Given the description of an element on the screen output the (x, y) to click on. 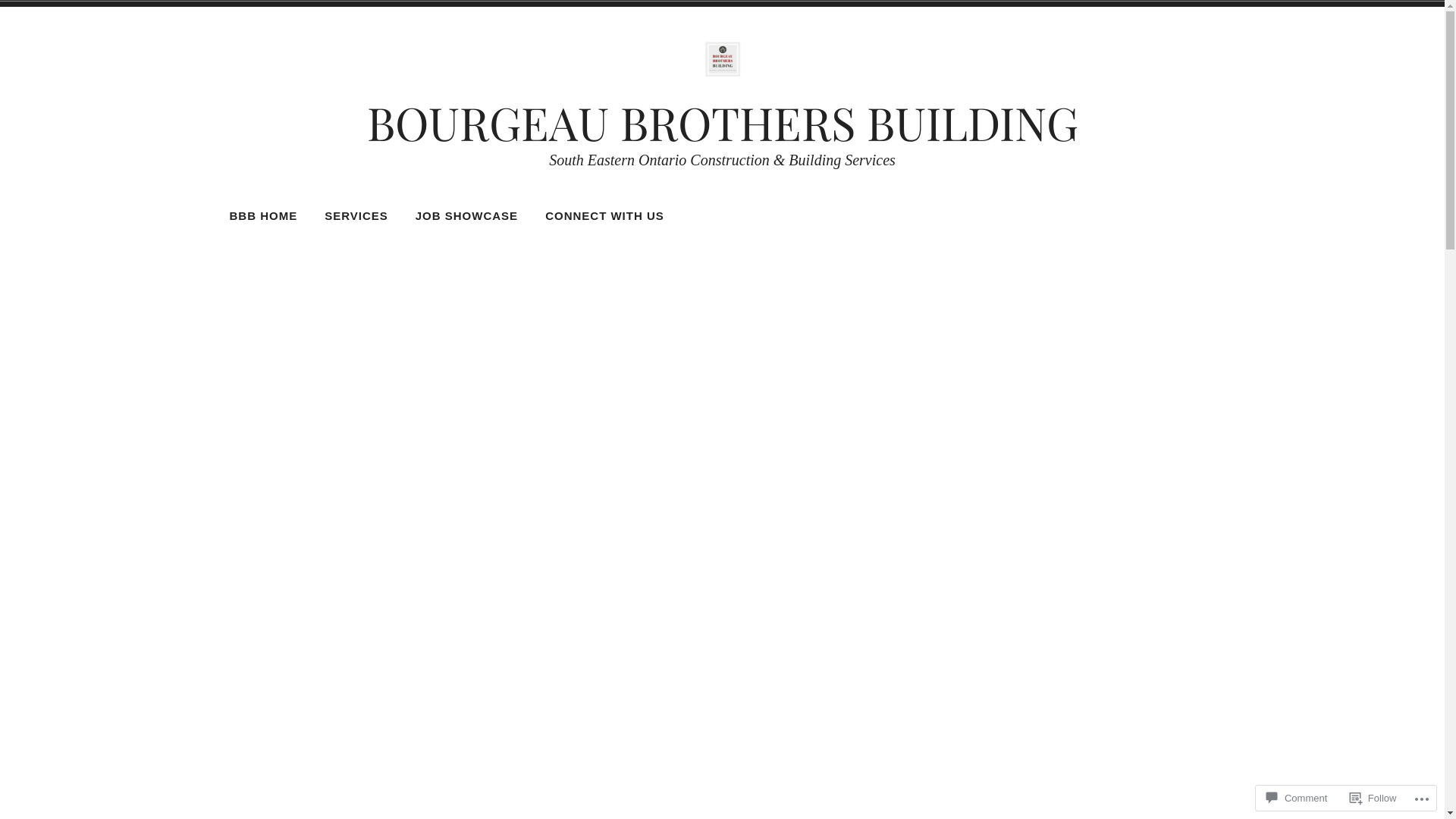
Follow Element type: text (1372, 797)
JOB SHOWCASE Element type: text (466, 215)
Search Element type: text (30, 13)
Comment Element type: text (1296, 797)
CONNECT WITH US Element type: text (604, 215)
BOURGEAU BROTHERS BUILDING Element type: text (722, 121)
SERVICES Element type: text (356, 215)
BBB HOME Element type: text (263, 215)
